Given the description of an element on the screen output the (x, y) to click on. 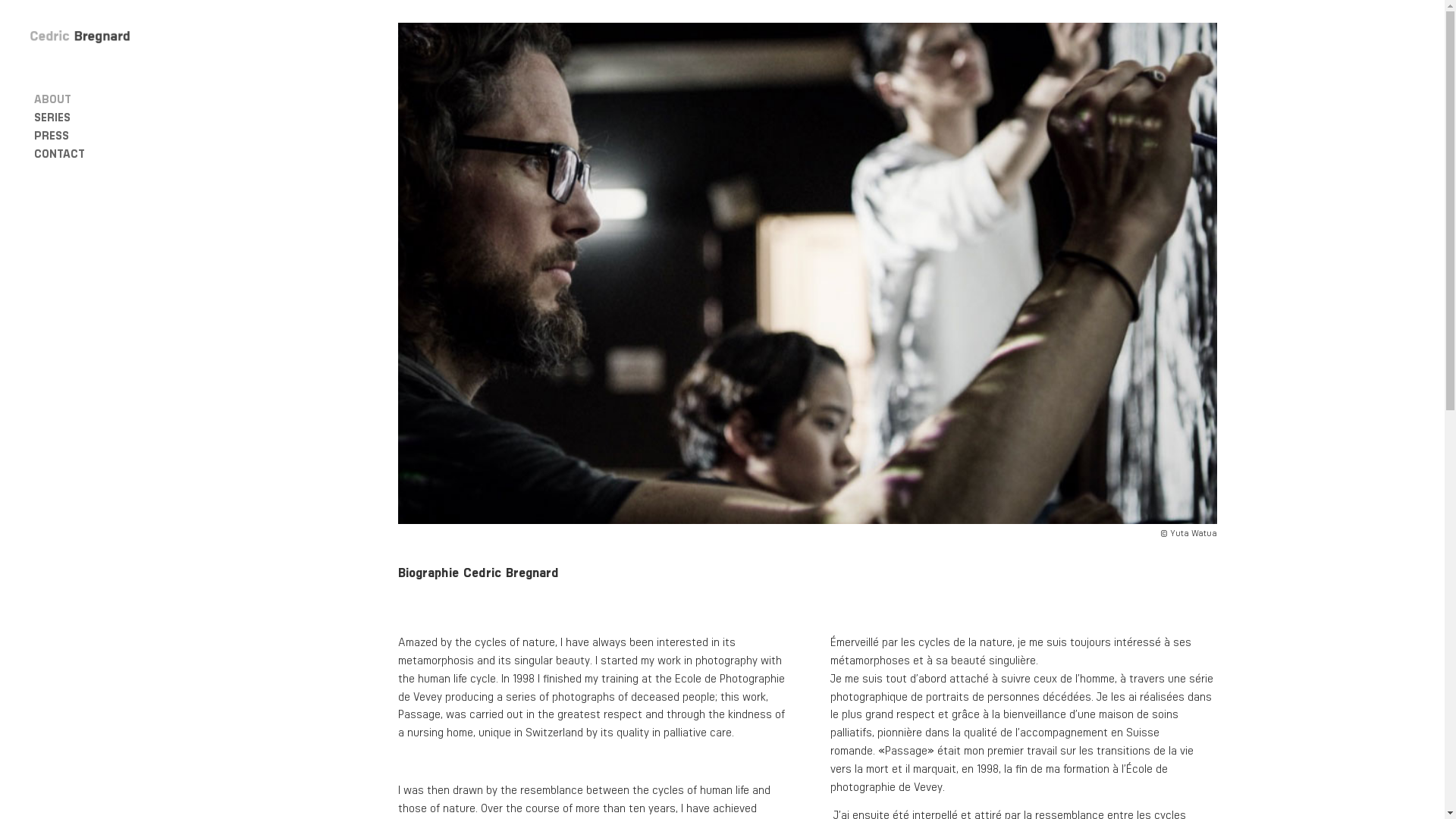
SERIES Element type: text (100, 116)
ABOUT Element type: text (100, 98)
CONTACT Element type: text (100, 153)
PRESS Element type: text (100, 134)
